Given the description of an element on the screen output the (x, y) to click on. 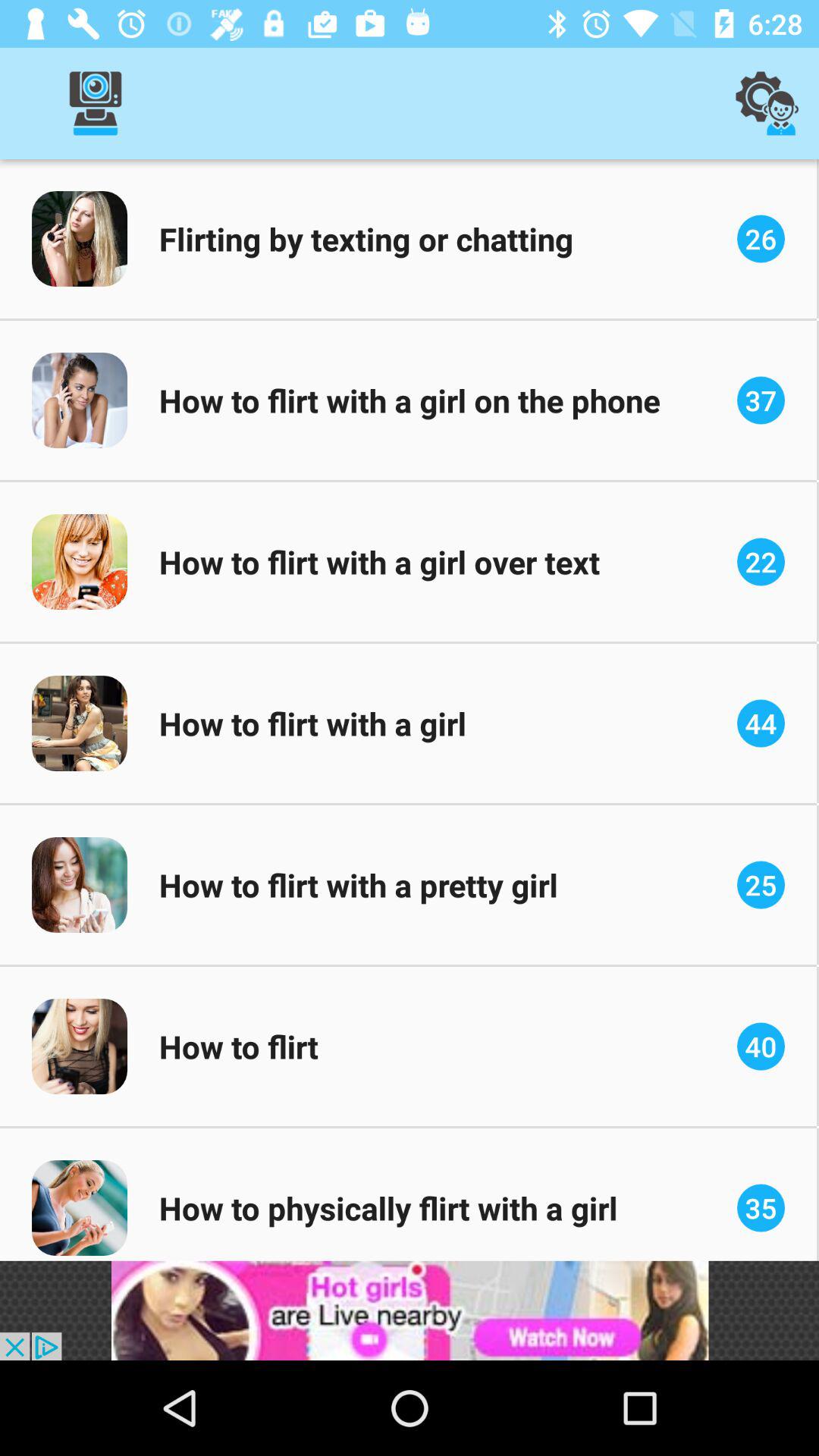
click on the image which is beside how to flirt (79, 1046)
select the image which is left to the text how to flirt with a pretty girl (79, 885)
click on the image which is left hand side of the text flirting by texting or chatting (79, 238)
select bottom left image (79, 1208)
